Given the description of an element on the screen output the (x, y) to click on. 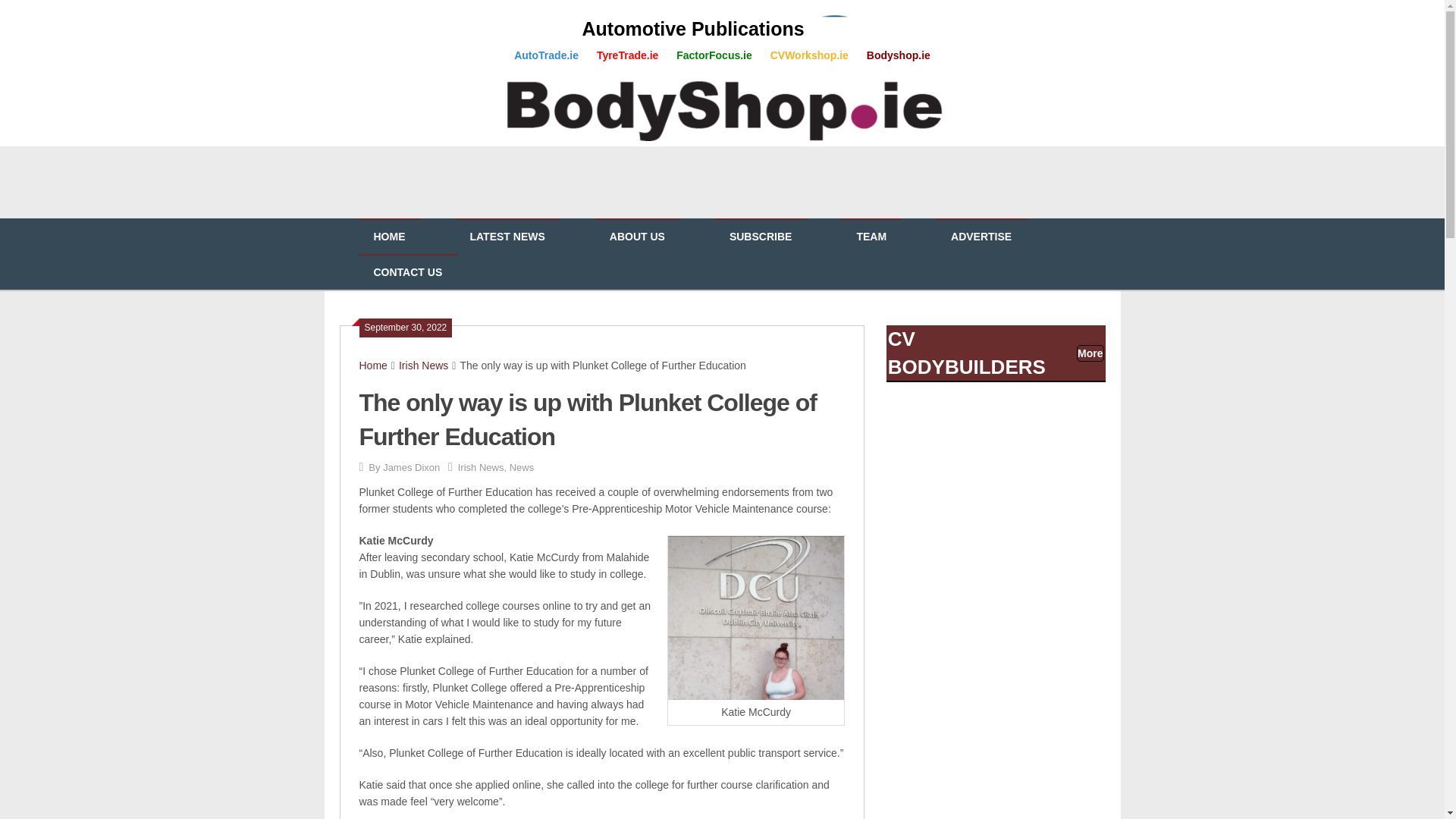
ABOUT US (636, 236)
CONTACT US (407, 272)
News (521, 467)
More (1089, 353)
LATEST NEWS (507, 236)
Posts by James Dixon (410, 467)
Home (373, 365)
CV BODYBUILDERS (966, 352)
Irish News (480, 467)
James Dixon (410, 467)
